Given the description of an element on the screen output the (x, y) to click on. 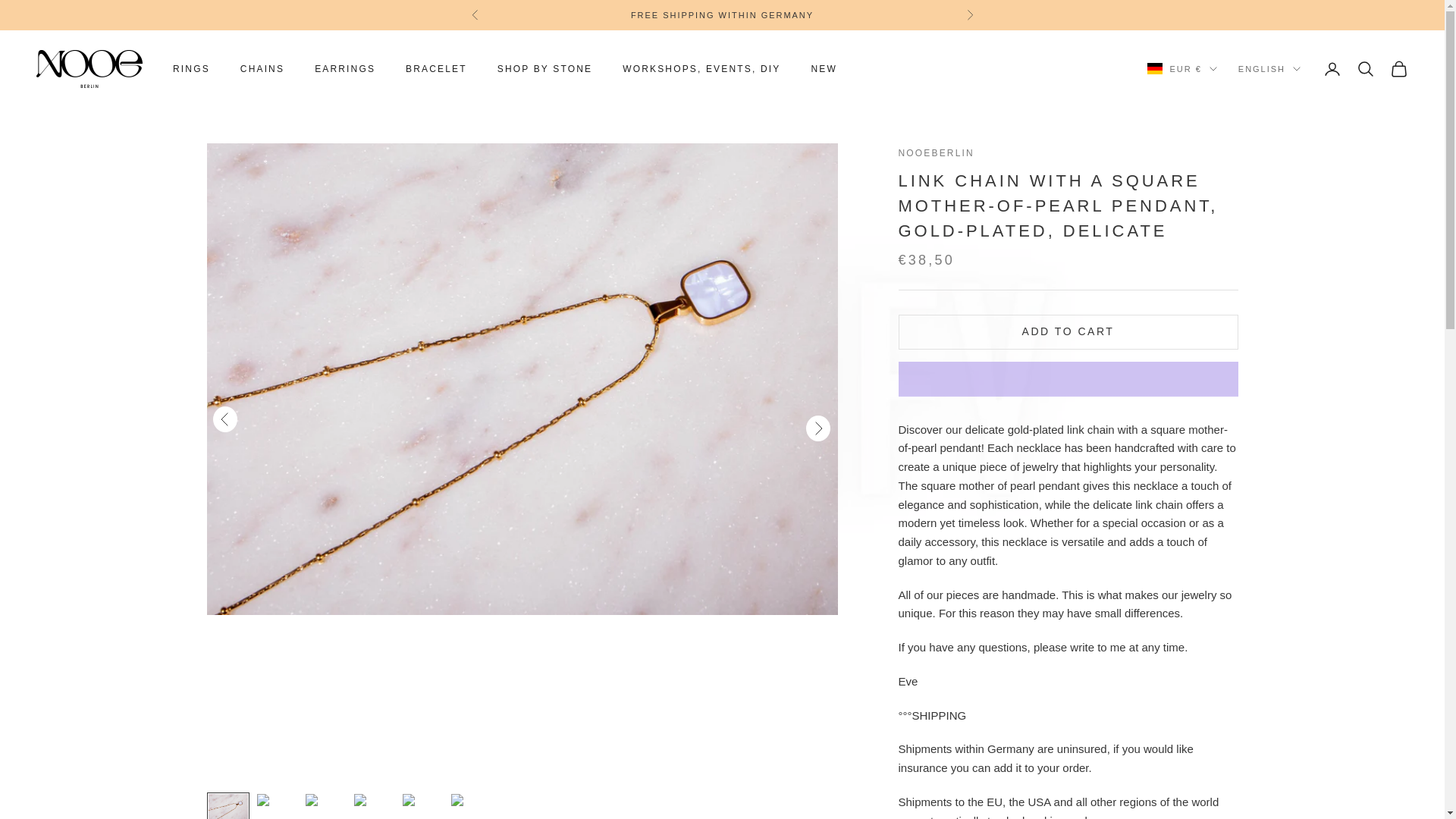
NEW (822, 68)
EARRINGS (344, 68)
NooeBerlin (89, 68)
BRACELET (436, 68)
CHAINS (261, 68)
